Given the description of an element on the screen output the (x, y) to click on. 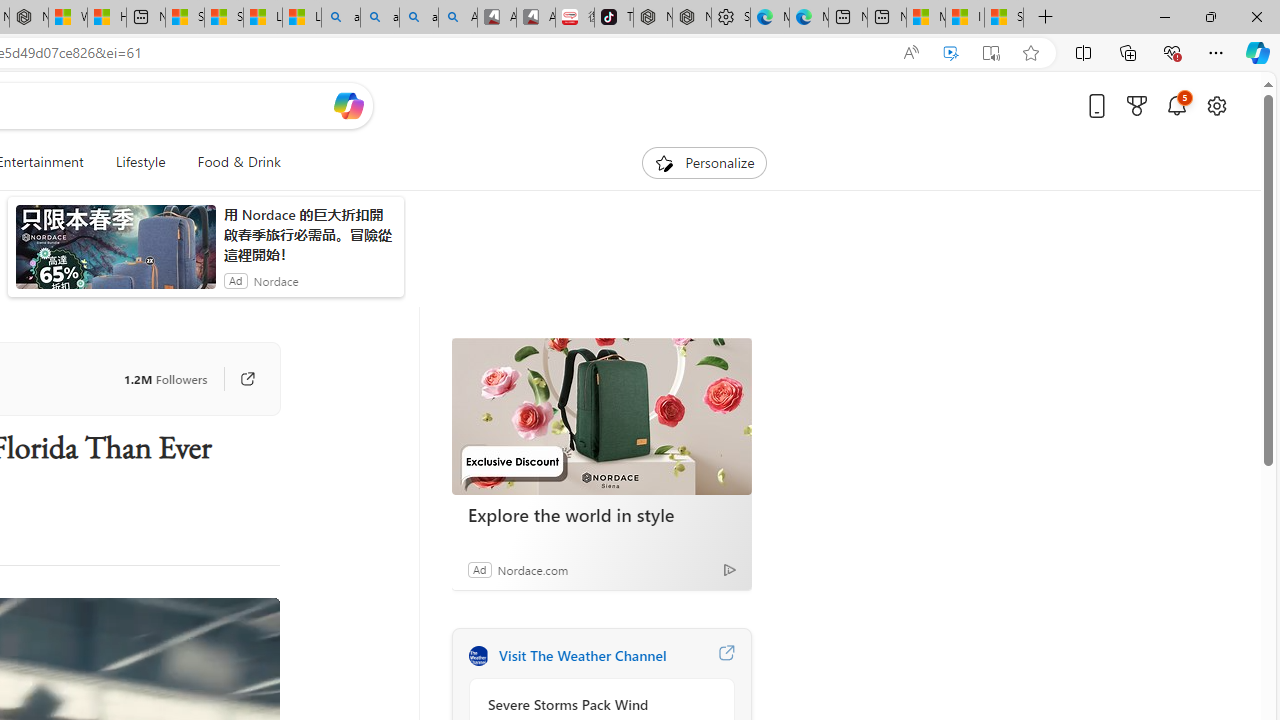
Food & Drink (230, 162)
Nordace - Best Sellers (652, 17)
Notifications (1176, 105)
Food & Drink (239, 162)
Nordace.com (532, 569)
Nordace Siena Pro 15 Backpack (691, 17)
To get missing image descriptions, open the context menu. (664, 162)
